Given the description of an element on the screen output the (x, y) to click on. 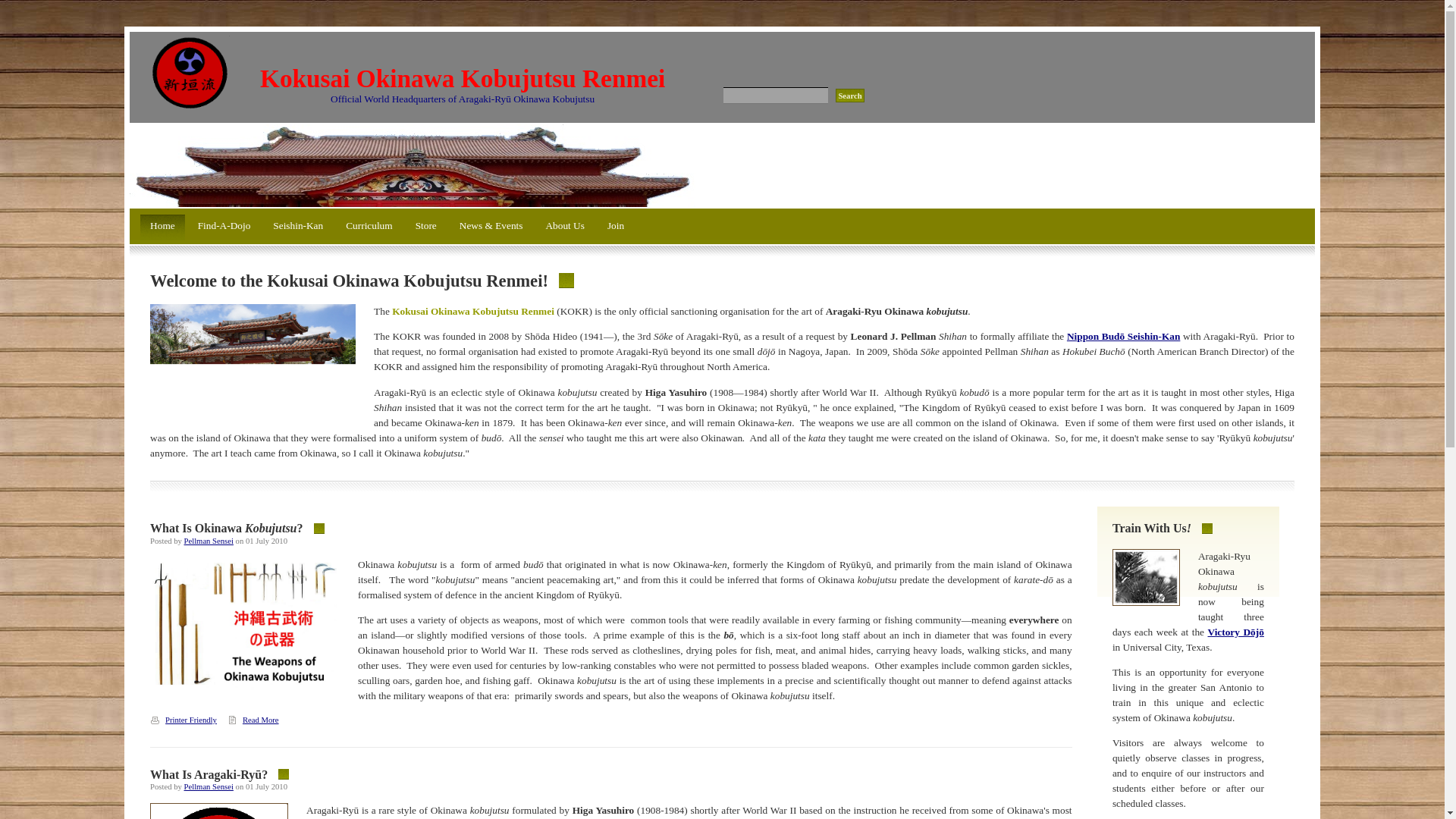
Join (615, 227)
Home (161, 227)
Find-A-Dojo (223, 227)
About Us (564, 227)
Search (849, 95)
Seishin-Kan (298, 227)
Printer Friendly (186, 719)
Search (849, 95)
Pellman Sensei (208, 786)
Pellman Sensei (208, 541)
